Given the description of an element on the screen output the (x, y) to click on. 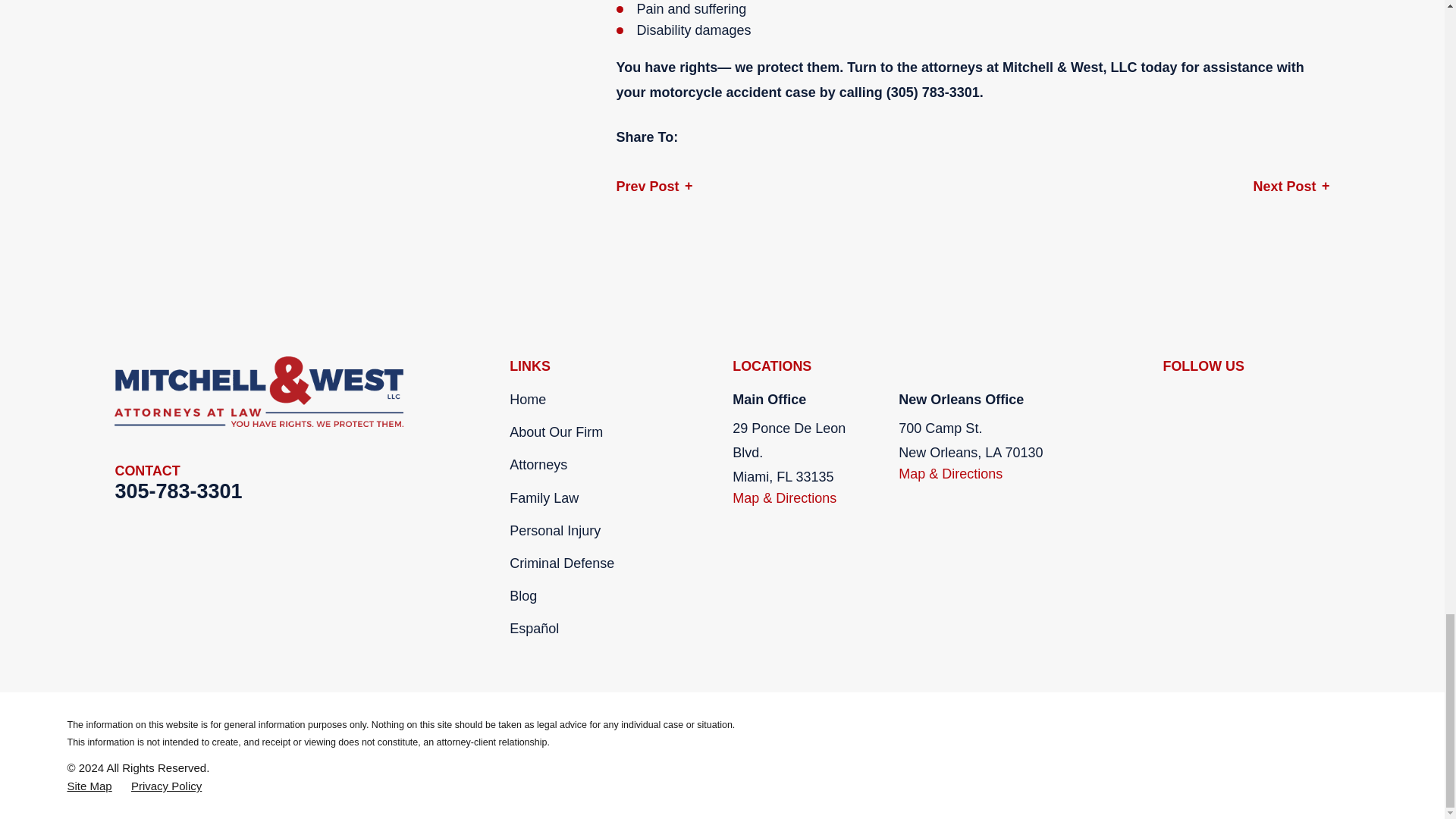
Google Business Profile (1250, 399)
Home (267, 391)
Yelp (1211, 399)
Facebook (1170, 399)
